Given the description of an element on the screen output the (x, y) to click on. 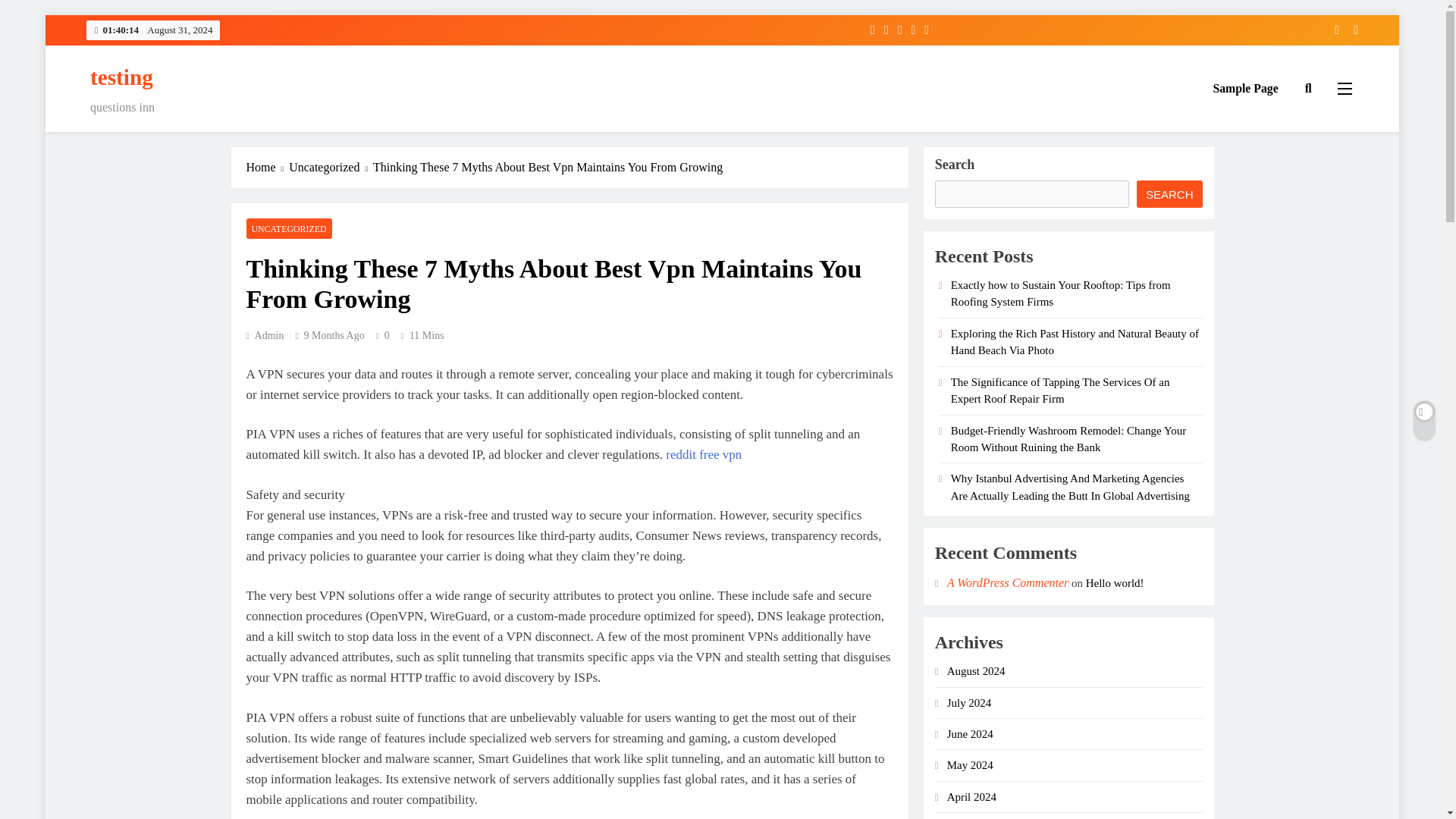
Hello world! (1115, 582)
August 2024 (976, 671)
Admin (264, 335)
Home (267, 167)
Uncategorized (330, 167)
Sample Page (1244, 87)
UNCATEGORIZED (288, 228)
